Given the description of an element on the screen output the (x, y) to click on. 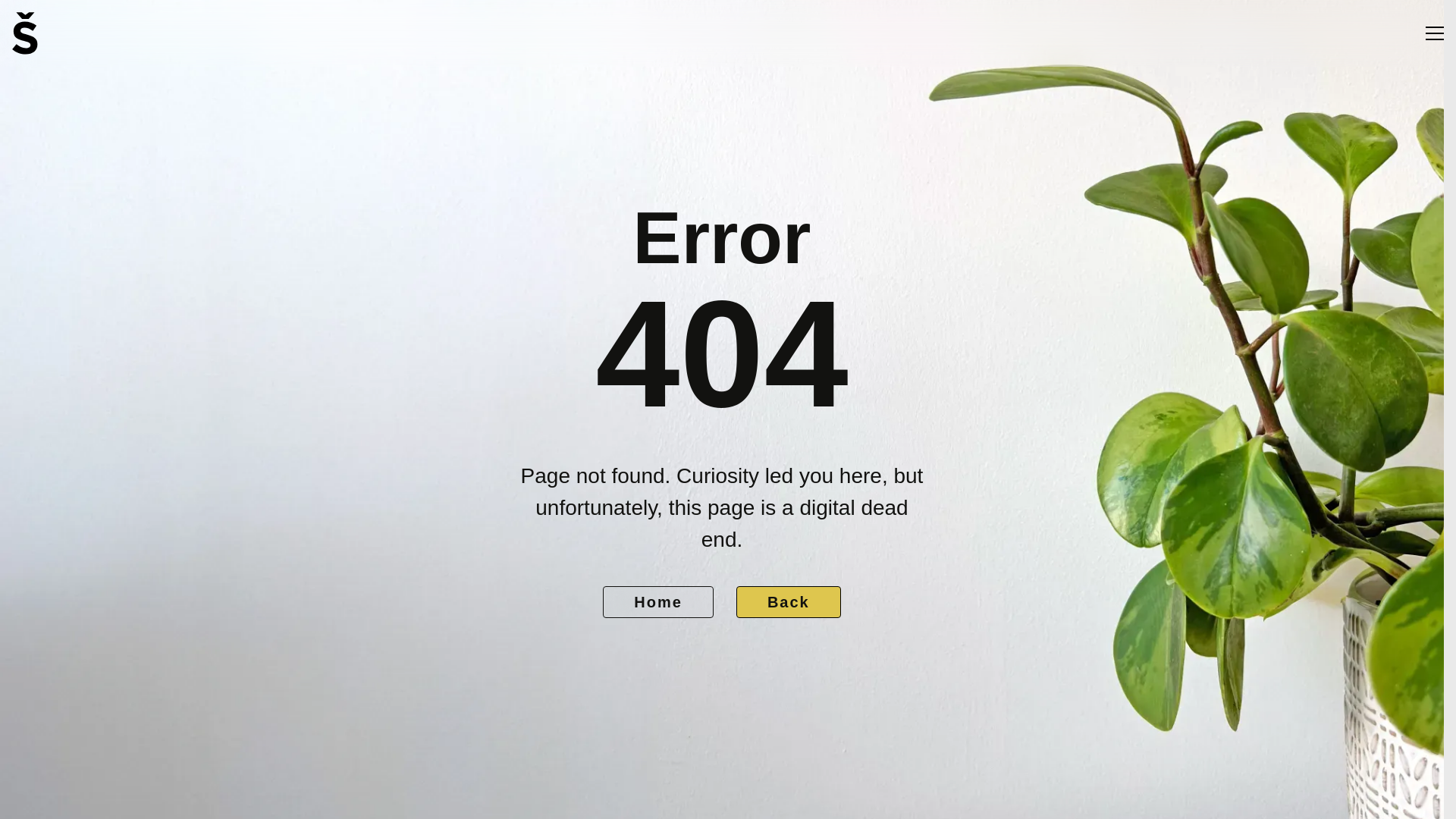
Home (657, 601)
Back (788, 601)
